Given the description of an element on the screen output the (x, y) to click on. 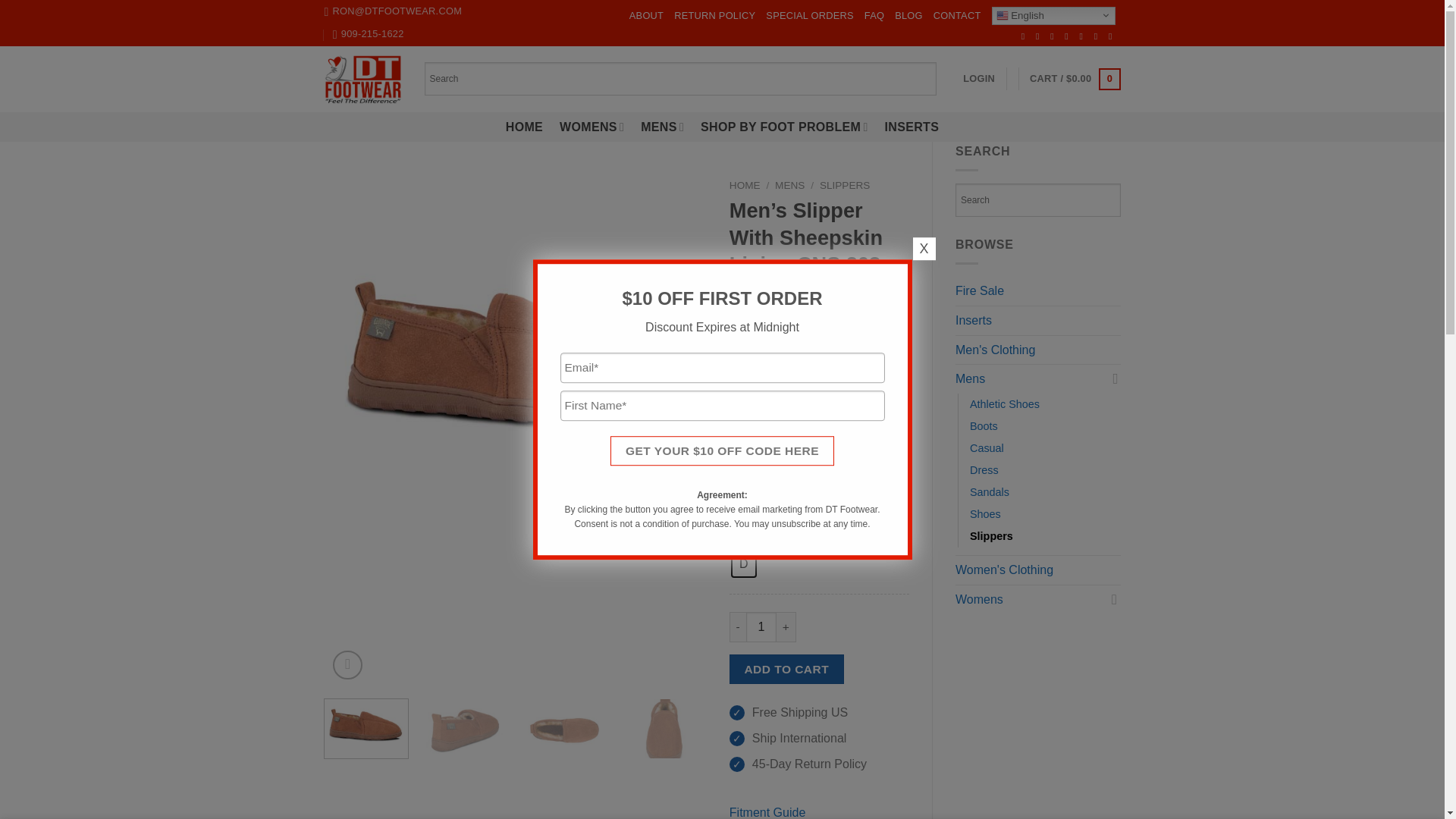
Zoom (347, 665)
RETURN POLICY (714, 15)
HOME (524, 126)
ABOUT (645, 15)
Follow on LinkedIn (1098, 36)
- (737, 626)
DT Footwear - Feel The Difference (362, 79)
909-215-1622 (368, 33)
LOGIN (978, 78)
Follow on X (1069, 36)
English (1053, 15)
FAQ (873, 15)
SPECIAL ORDERS (809, 15)
CONTACT (957, 15)
Follow on Facebook (1026, 36)
